Given the description of an element on the screen output the (x, y) to click on. 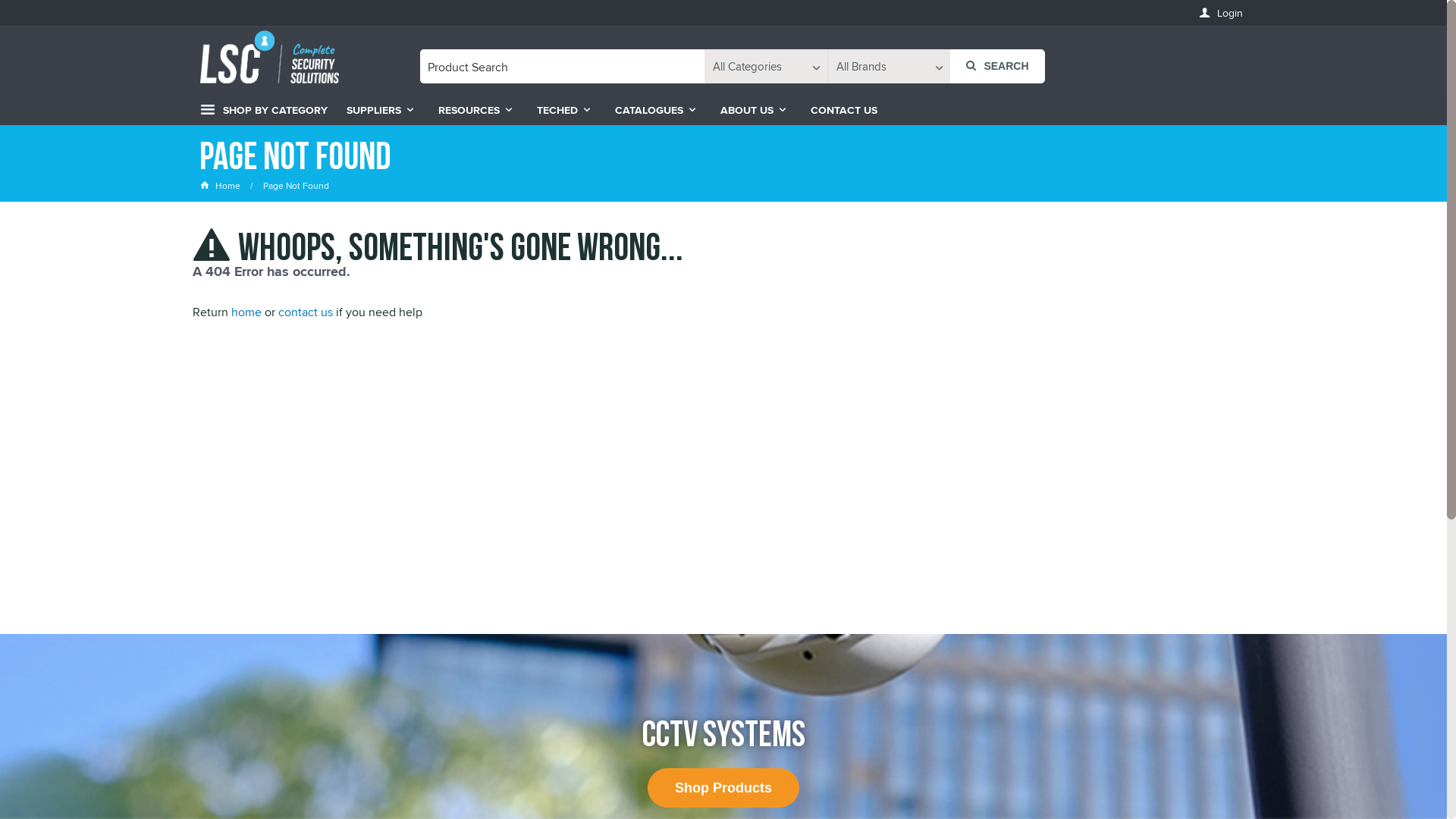
SUPPLIERS Element type: text (380, 109)
RESOURCES Element type: text (475, 109)
TECHED Element type: text (564, 109)
ABOUT US Element type: text (754, 109)
Login Element type: text (1221, 13)
SEARCH Element type: text (997, 66)
CATALOGUES Element type: text (656, 109)
Home Element type: text (221, 184)
CONTACT US Element type: text (843, 109)
home Element type: text (246, 311)
Shop Products Element type: text (723, 788)
contact us Element type: text (305, 311)
